Given the description of an element on the screen output the (x, y) to click on. 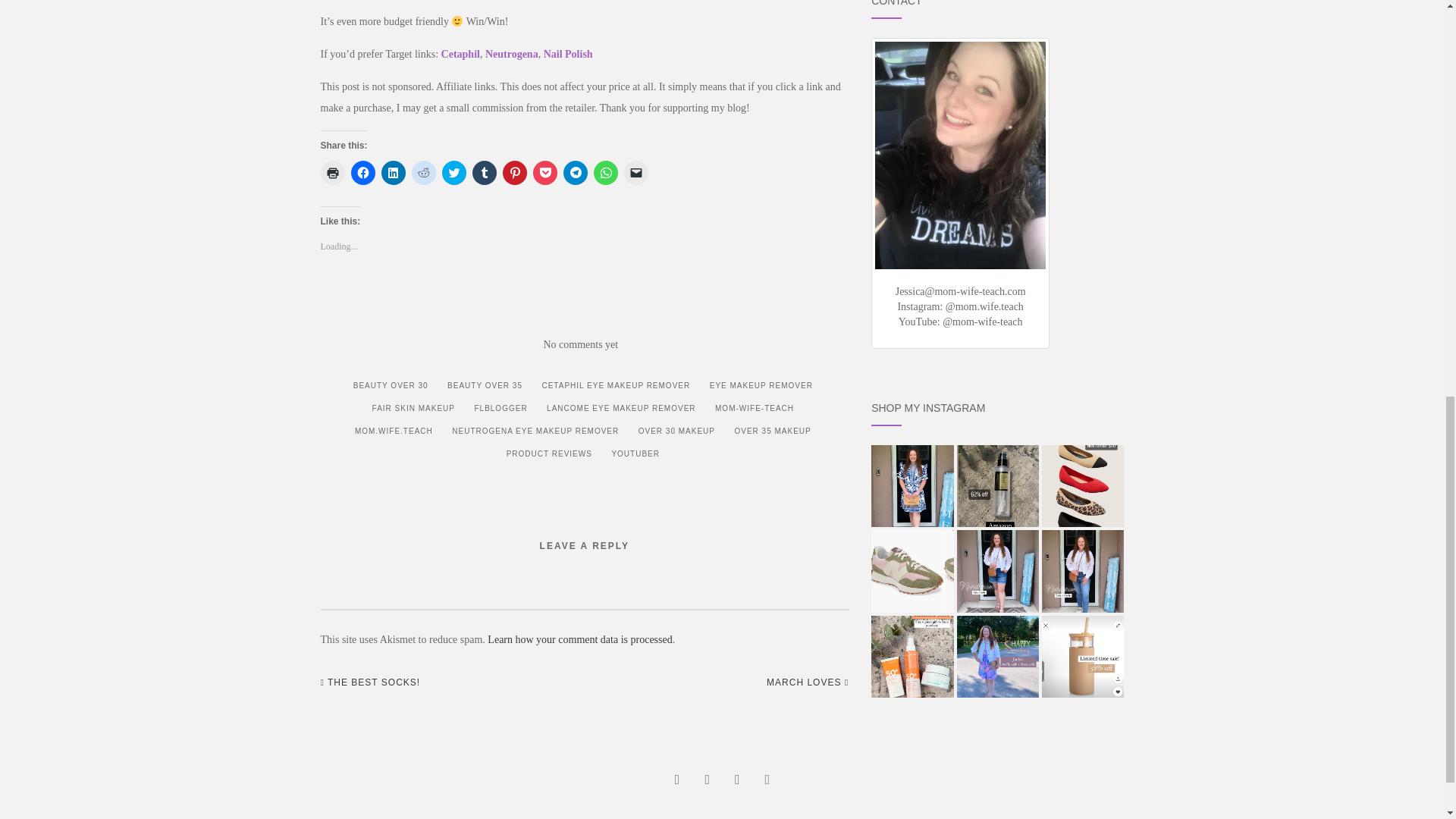
Cetaphil (460, 53)
Click to share on Reddit (422, 172)
Click to share on Facebook (362, 172)
MOM-WIFE-TEACH (754, 408)
CETAPHIL EYE MAKEUP REMOVER (615, 385)
LANCOME EYE MAKEUP REMOVER (620, 408)
BEAUTY OVER 30 (390, 385)
Nail Polish (567, 53)
No comments yet (580, 344)
Click to share on Twitter (453, 172)
Neutrogena (511, 53)
BEAUTY OVER 35 (484, 385)
Click to share on Tumblr (483, 172)
Click to share on Pocket (544, 172)
Click to print (331, 172)
